Given the description of an element on the screen output the (x, y) to click on. 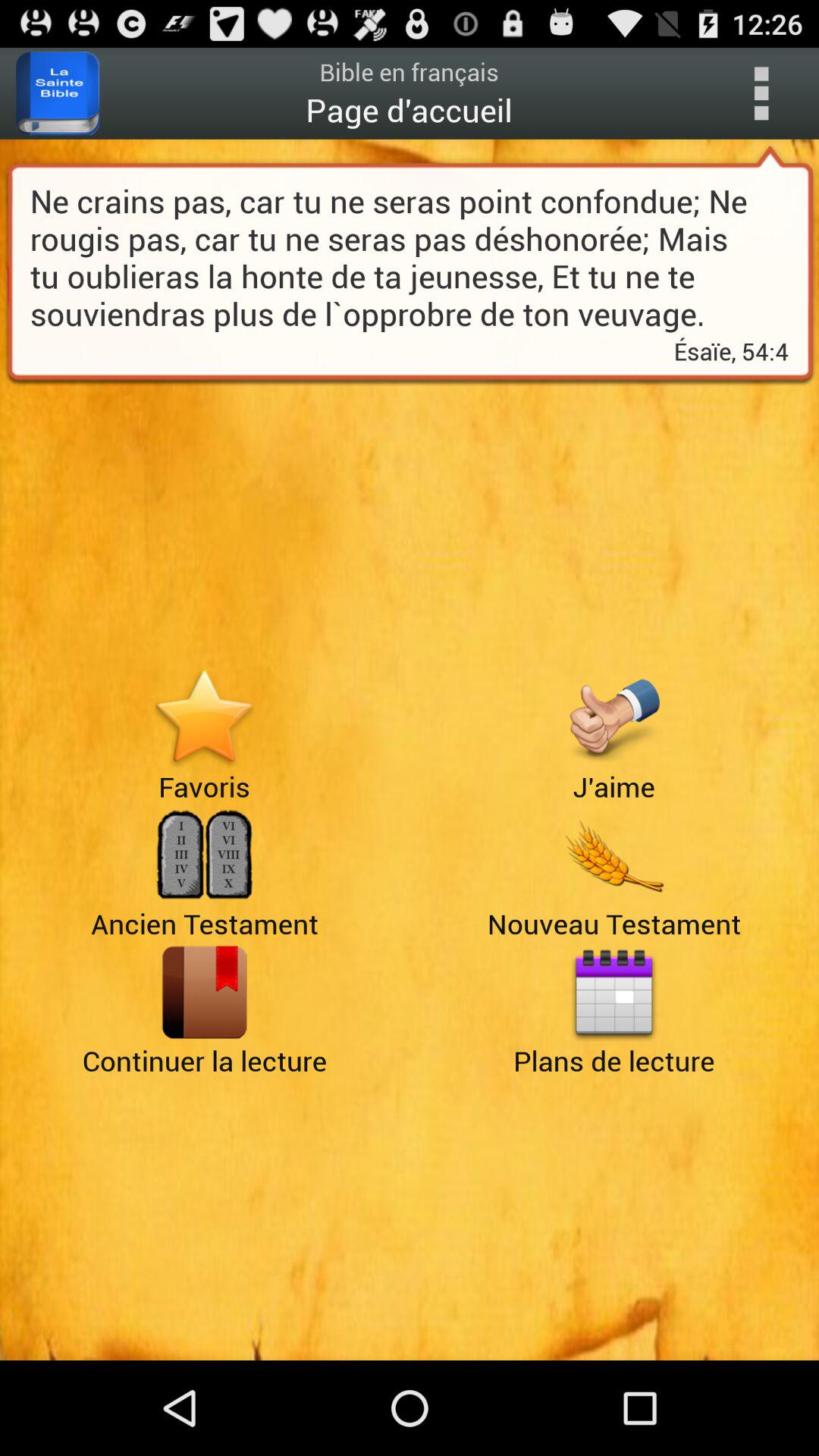
menu option (761, 93)
